Given the description of an element on the screen output the (x, y) to click on. 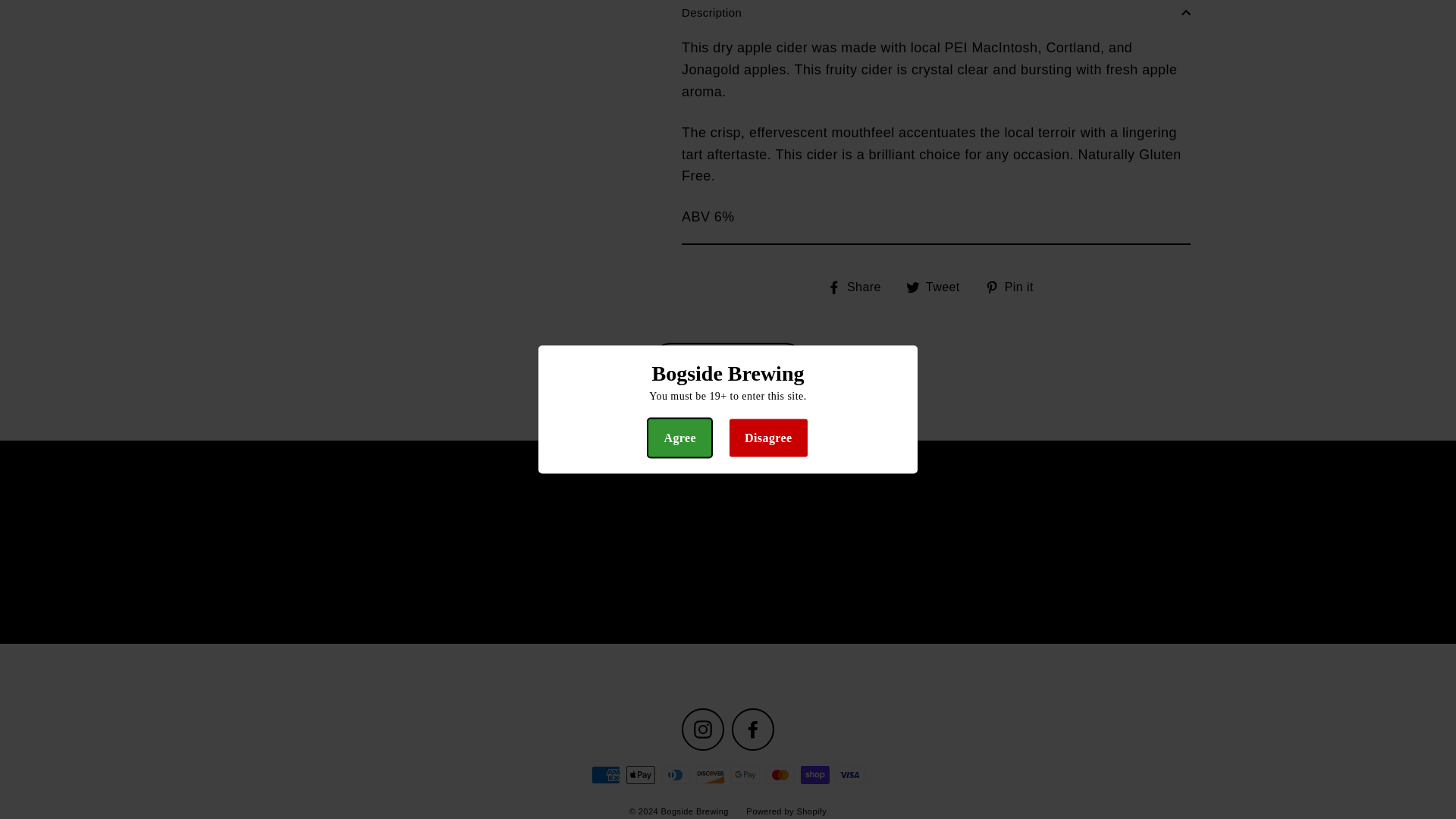
Google Pay (745, 774)
Diners Club (675, 774)
American Express (605, 774)
Shop Pay (814, 774)
Visa (849, 774)
Apple Pay (640, 774)
Mastercard (779, 774)
Discover (710, 774)
